Given the description of an element on the screen output the (x, y) to click on. 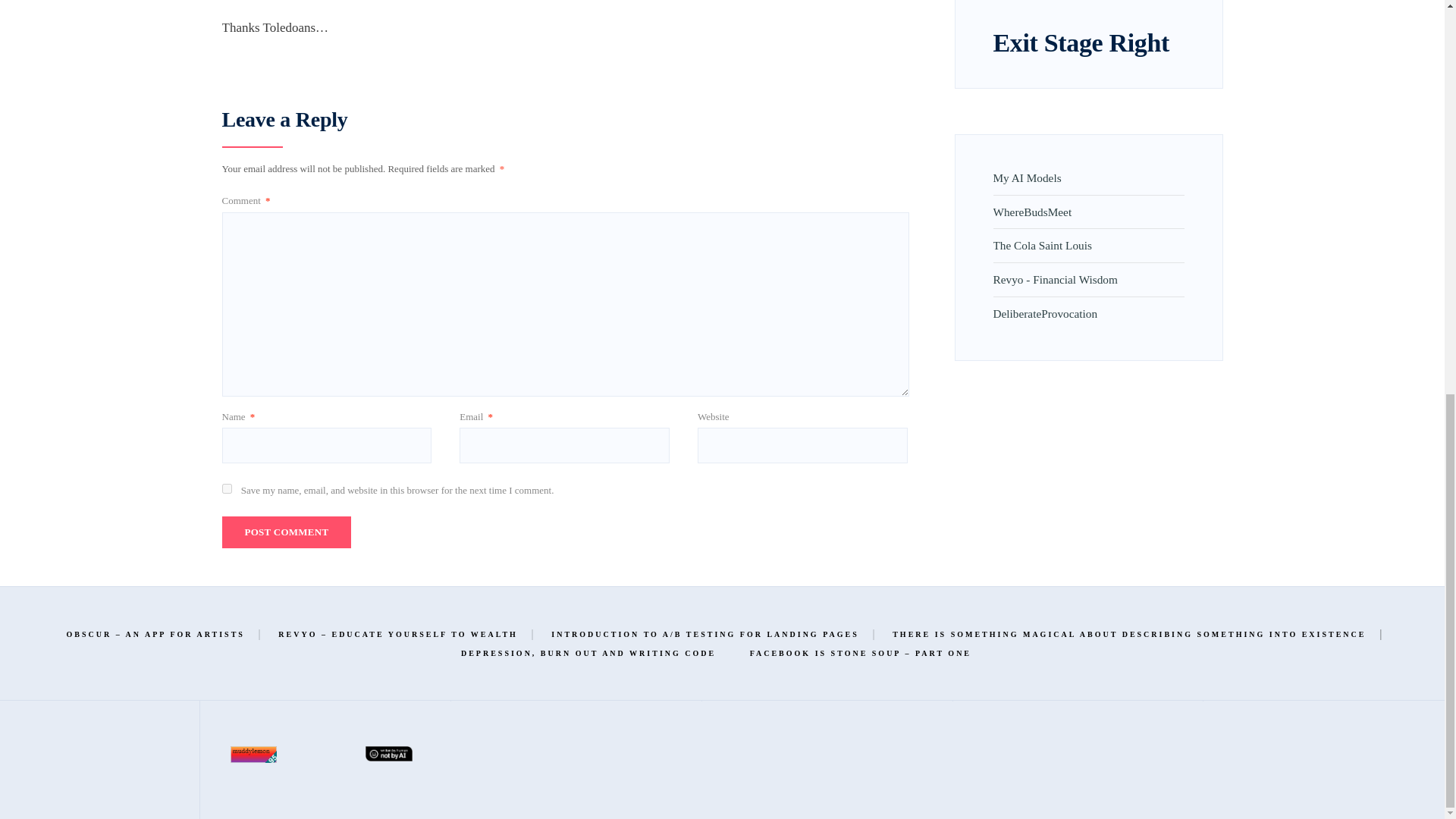
The Cola Saint Louis (1042, 245)
My AI Models (1026, 177)
Post Comment (285, 531)
DeliberateProvocation (1044, 313)
Post Comment (285, 531)
DEPRESSION, BURN OUT AND WRITING CODE (588, 652)
yes (226, 488)
Revyo - Financial Wisdom (1055, 278)
WhereBudsMeet (1031, 211)
